Given the description of an element on the screen output the (x, y) to click on. 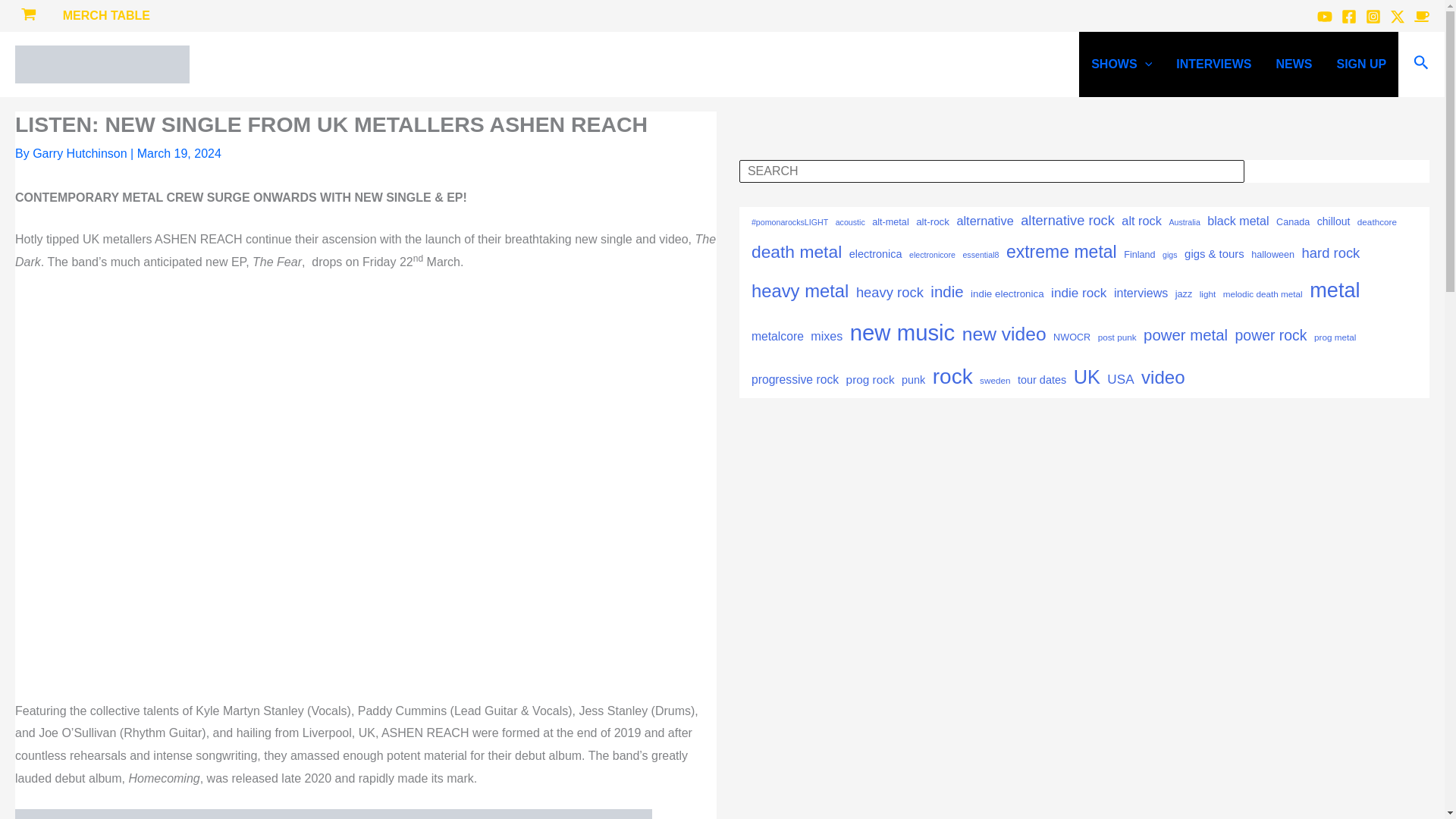
View all posts by Garry Hutchinson (81, 153)
MERCH TABLE (106, 15)
INTERVIEWS (1213, 64)
NEWS (1293, 64)
SIGN UP (1360, 64)
SHOWS (1120, 64)
